Given the description of an element on the screen output the (x, y) to click on. 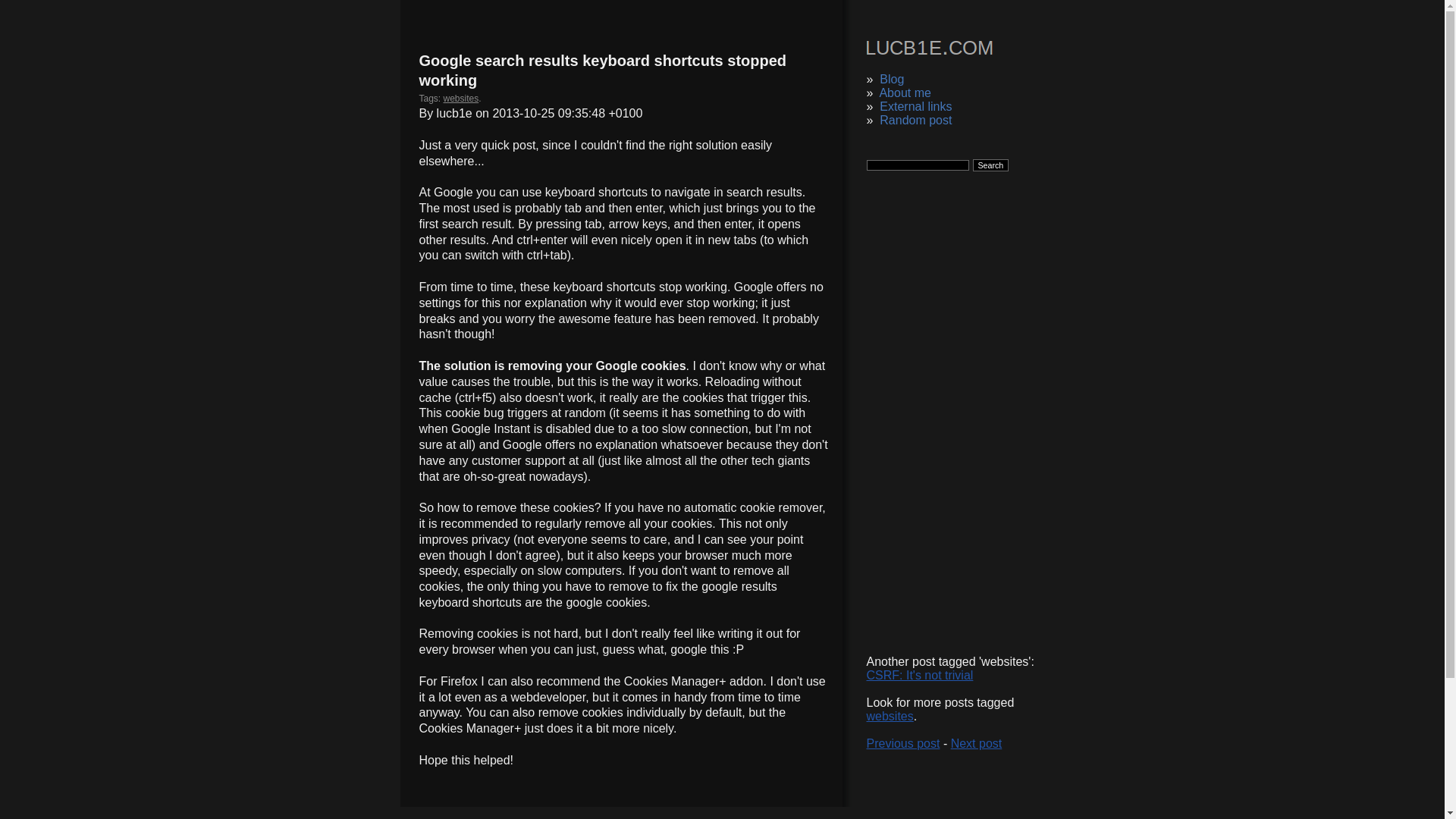
CSRF: It's not trivial (919, 675)
Blog (891, 78)
Search (990, 164)
Next post (976, 743)
Random post (915, 119)
websites (461, 98)
Search (990, 164)
Previous post (902, 743)
websites (889, 716)
External links (915, 106)
Number of posts with this tag: 18 (889, 716)
lucb1e.com (928, 50)
About me (904, 92)
All posts tagged with websites (461, 98)
Search (990, 164)
